Given the description of an element on the screen output the (x, y) to click on. 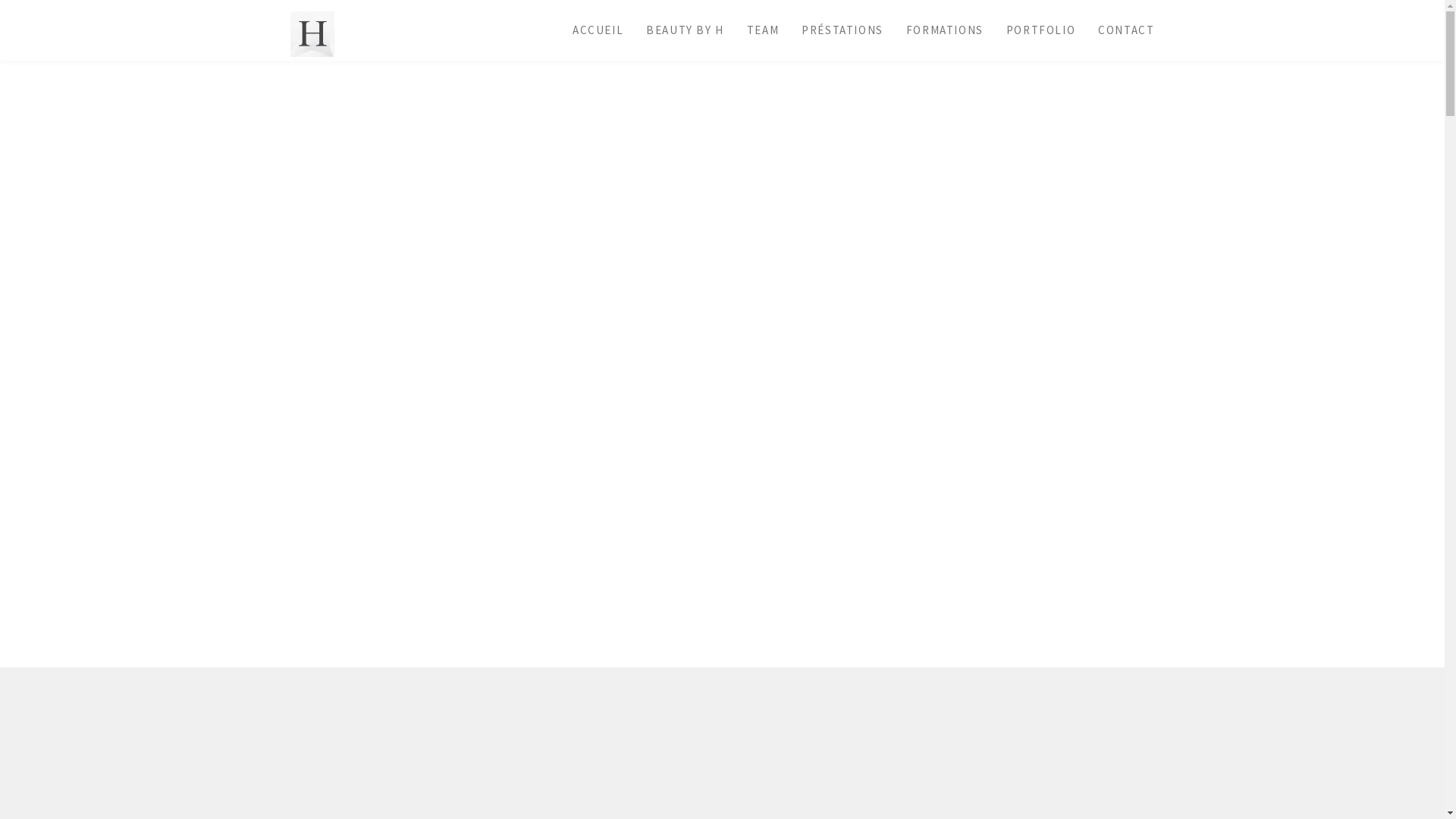
TEAM Element type: text (762, 30)
BEAUTY BY H Element type: text (684, 30)
CONTACT Element type: text (1125, 30)
PORTFOLIO Element type: text (1040, 30)
ACCUEIL Element type: text (597, 30)
FORMATIONS Element type: text (944, 30)
